Given the description of an element on the screen output the (x, y) to click on. 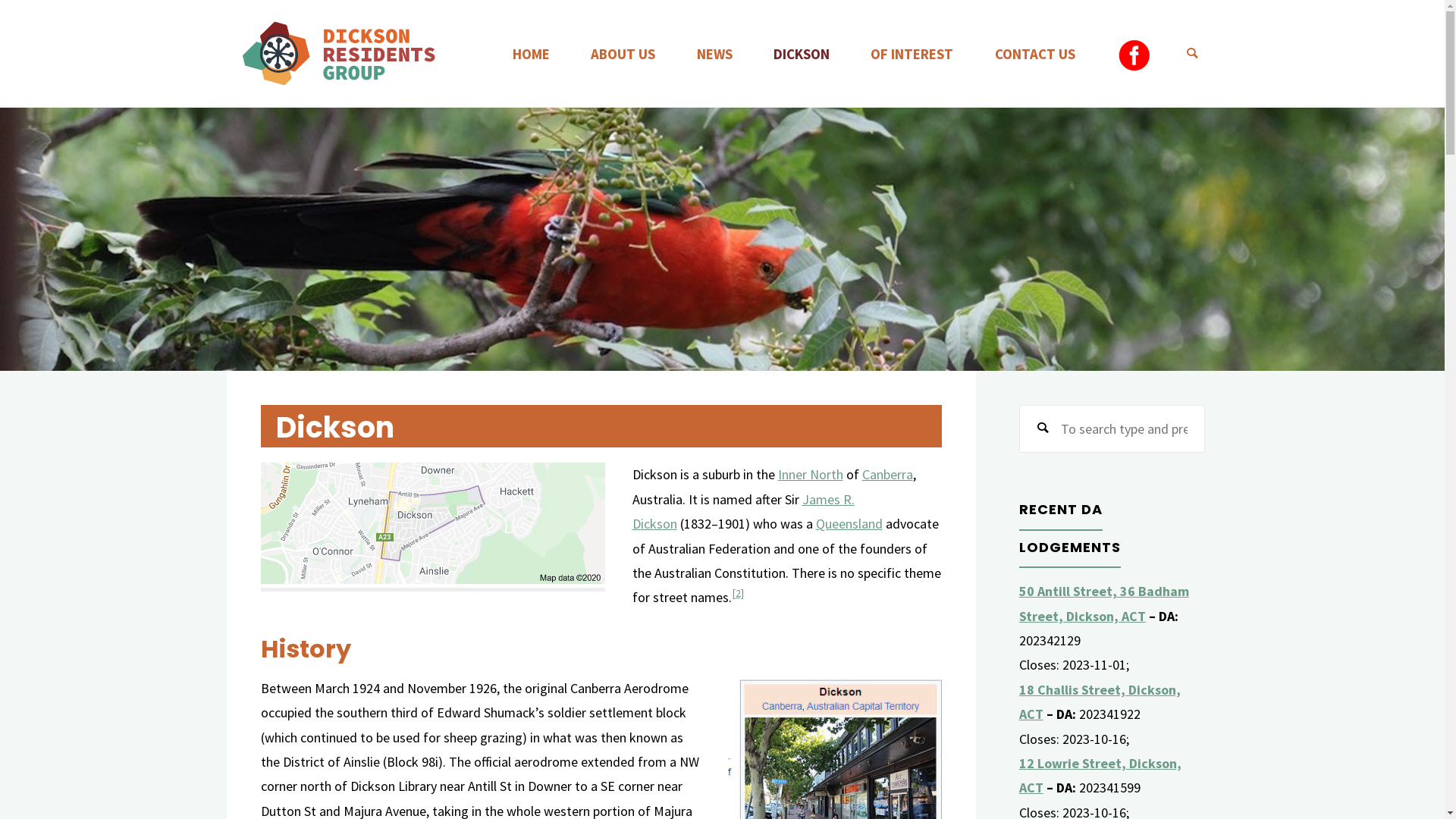
OF INTEREST Element type: text (912, 53)
[2] Element type: text (737, 592)
50 Antill Street, 36 Badham Street, Dickson, ACT Element type: text (1104, 603)
Canberra Element type: text (886, 474)
18 Challis Street, Dickson, ACT Element type: text (1099, 701)
Inner North Element type: text (810, 474)
ABOUT US Element type: text (623, 53)
Dickson Residents Group Element type: hover (339, 53)
Search Element type: text (1042, 428)
CONTACT US Element type: text (1034, 53)
Queensland Element type: text (848, 523)
HOME Element type: text (530, 53)
NEWS Element type: text (714, 53)
DICKSON Element type: text (801, 53)
12 Lowrie Street, Dickson, ACT Element type: text (1100, 775)
James R. Dickson Element type: text (743, 511)
